Given the description of an element on the screen output the (x, y) to click on. 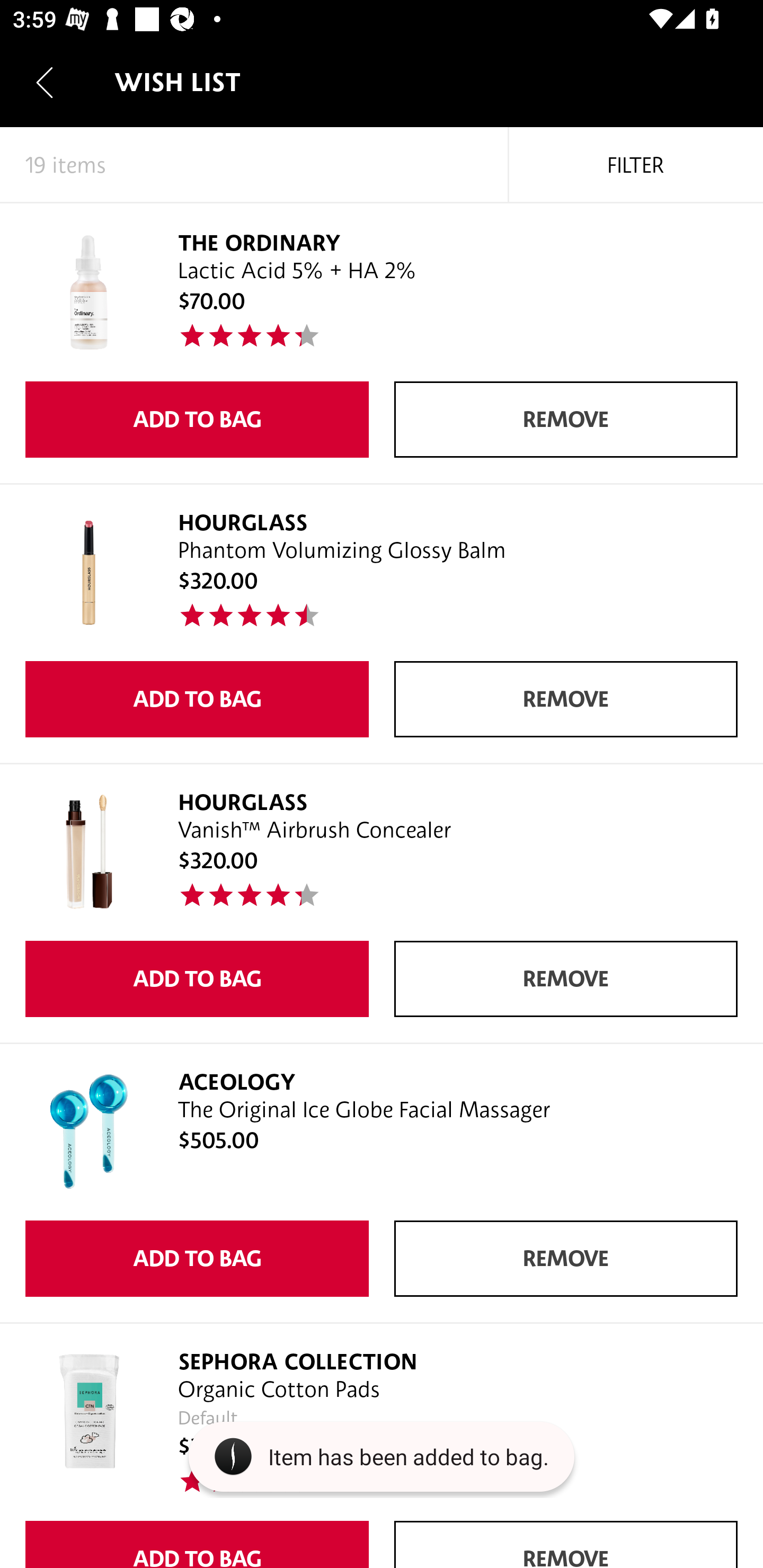
Navigate up (44, 82)
FILTER (635, 165)
ADD TO BAG (196, 419)
REMOVE (565, 419)
ADD TO BAG (196, 698)
REMOVE (565, 698)
ADD TO BAG (196, 978)
REMOVE (565, 978)
ADD TO BAG (196, 1257)
REMOVE (565, 1257)
ADD TO BAG (196, 1544)
REMOVE (565, 1544)
